Given the description of an element on the screen output the (x, y) to click on. 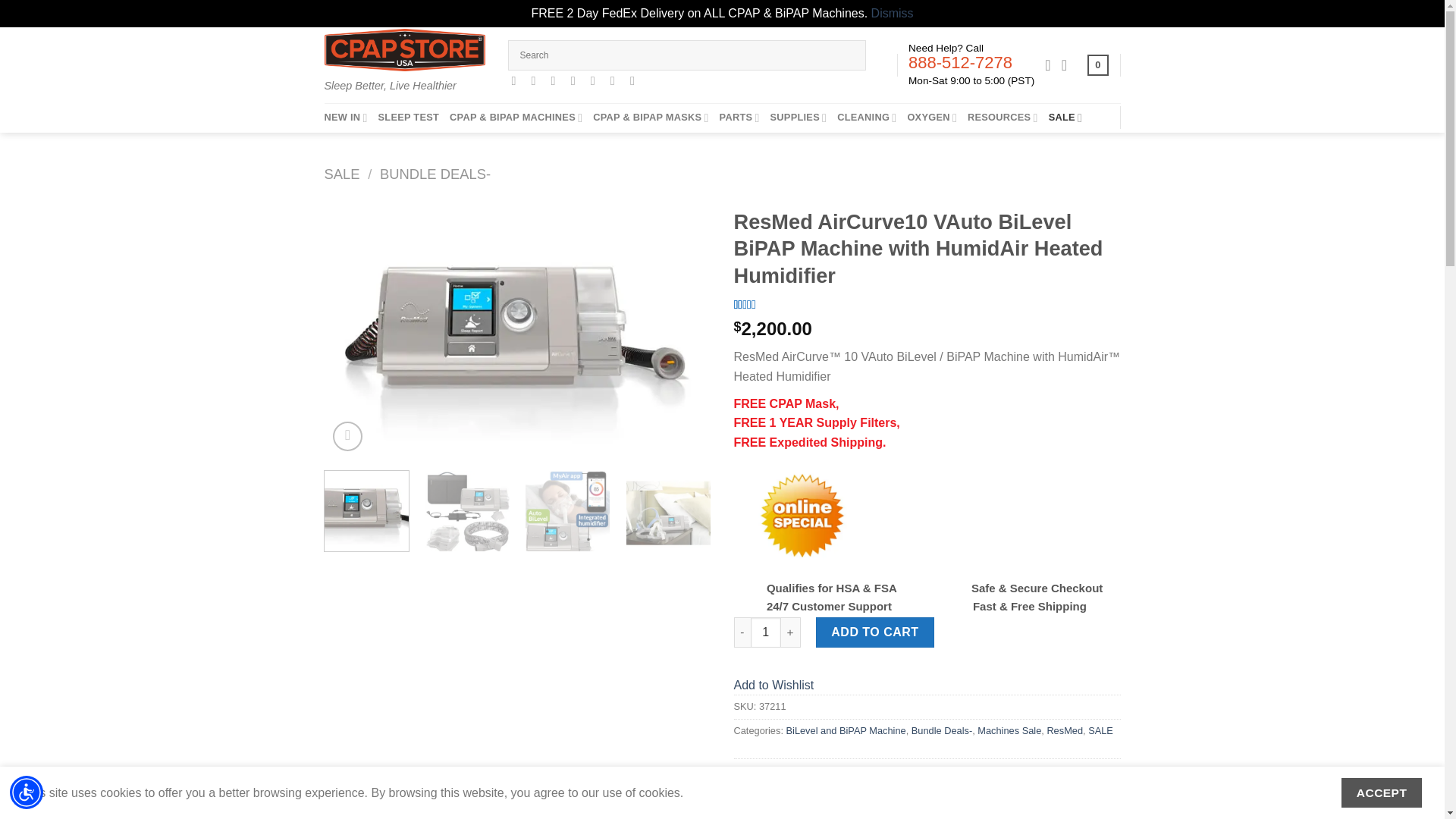
Dismiss (892, 12)
CPAP Store USA - Sleep Better, Live Healthier (404, 49)
Accessibility Menu (26, 792)
0 (1097, 65)
Follow on Facebook (516, 79)
Cart (1097, 65)
Follow on Instagram (537, 79)
- (742, 632)
SLEEP TEST (408, 117)
NEW IN (346, 117)
Follow on Pinterest (596, 79)
1 (765, 632)
Follow on TikTok (557, 79)
Follow on LinkedIn (616, 79)
